Given the description of an element on the screen output the (x, y) to click on. 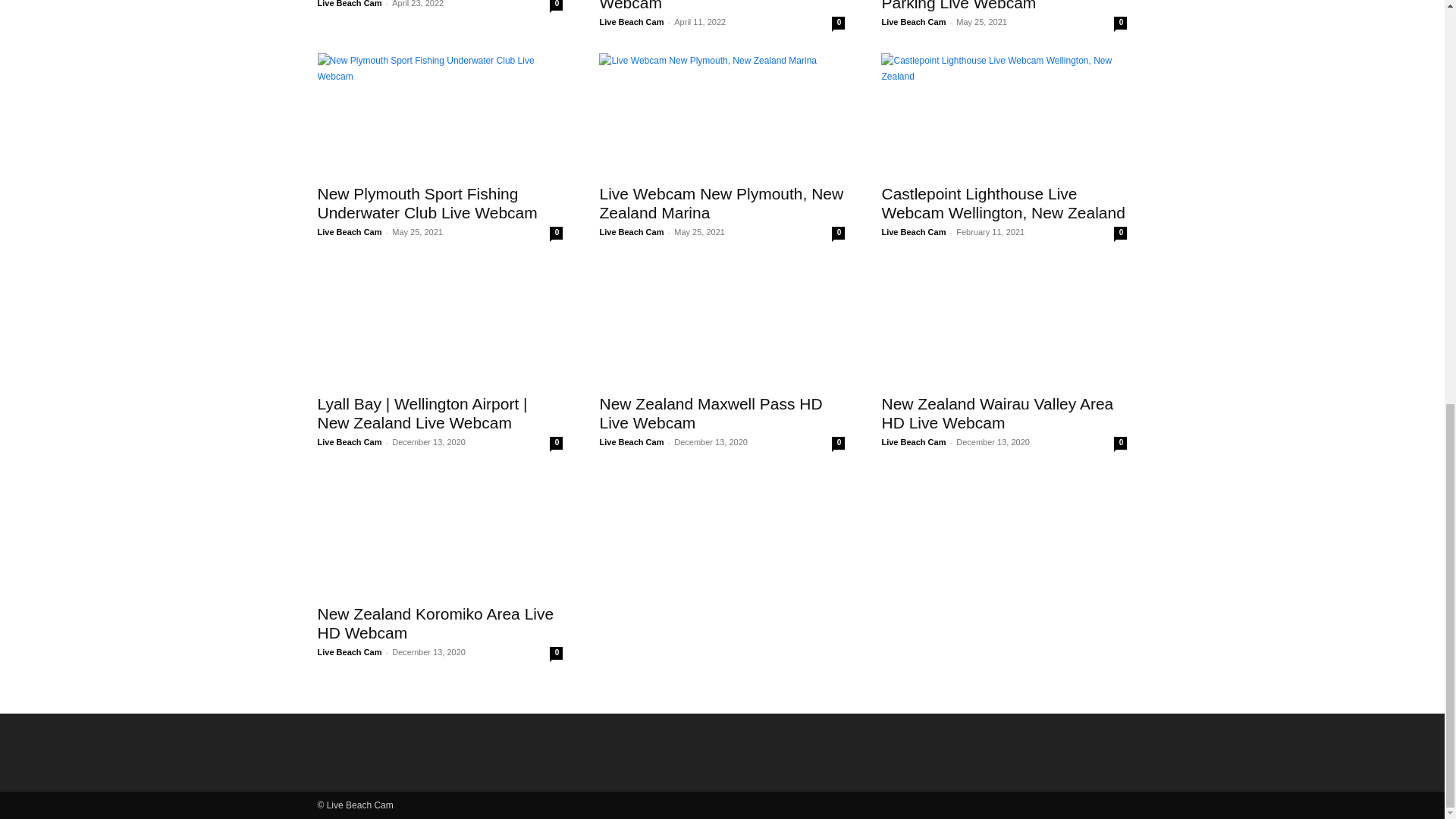
South Island, New Zealand Live Webcam (711, 5)
